Given the description of an element on the screen output the (x, y) to click on. 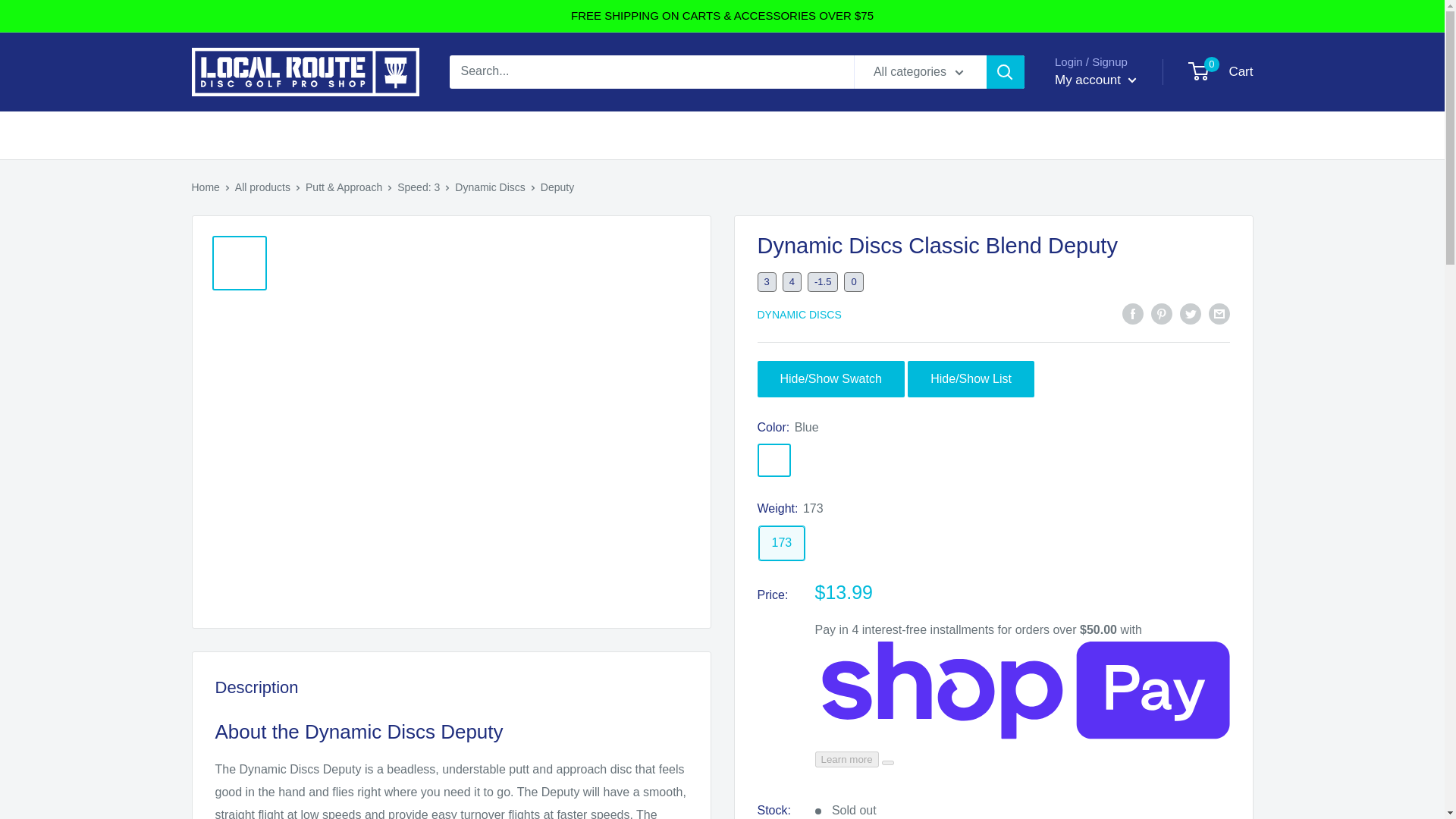
173 (781, 543)
Blue (773, 460)
Gray (813, 460)
